Given the description of an element on the screen output the (x, y) to click on. 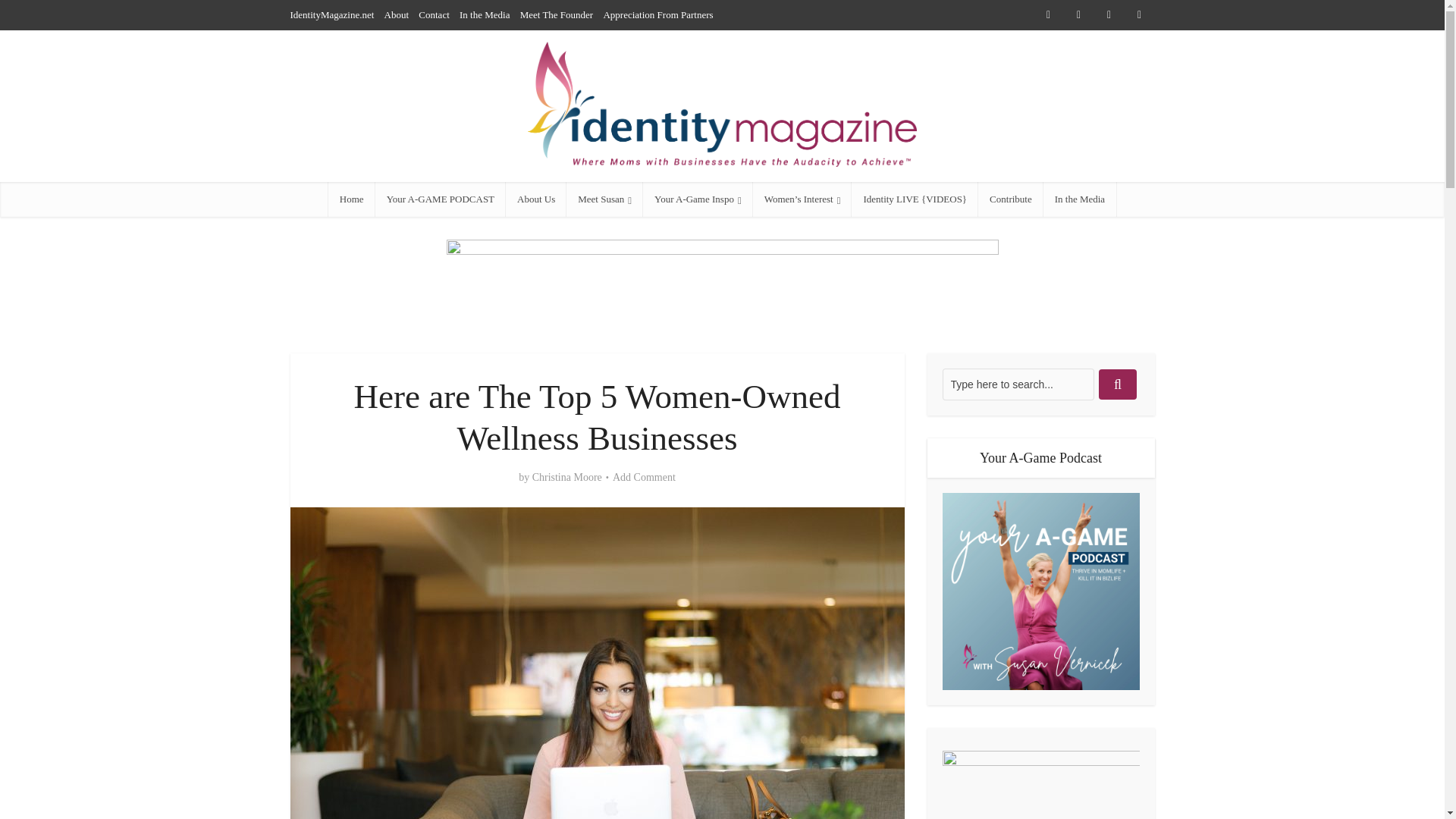
Meet The Founder (556, 14)
Type here to search... (1017, 384)
In the Media (484, 14)
Meet Susan (604, 199)
Your A-Game Inspo (697, 199)
Home (352, 199)
Appreciation From Partners (657, 14)
Type here to search... (1017, 384)
IdentityMagazine.net (331, 14)
Your A-GAME PODCAST (440, 199)
